Given the description of an element on the screen output the (x, y) to click on. 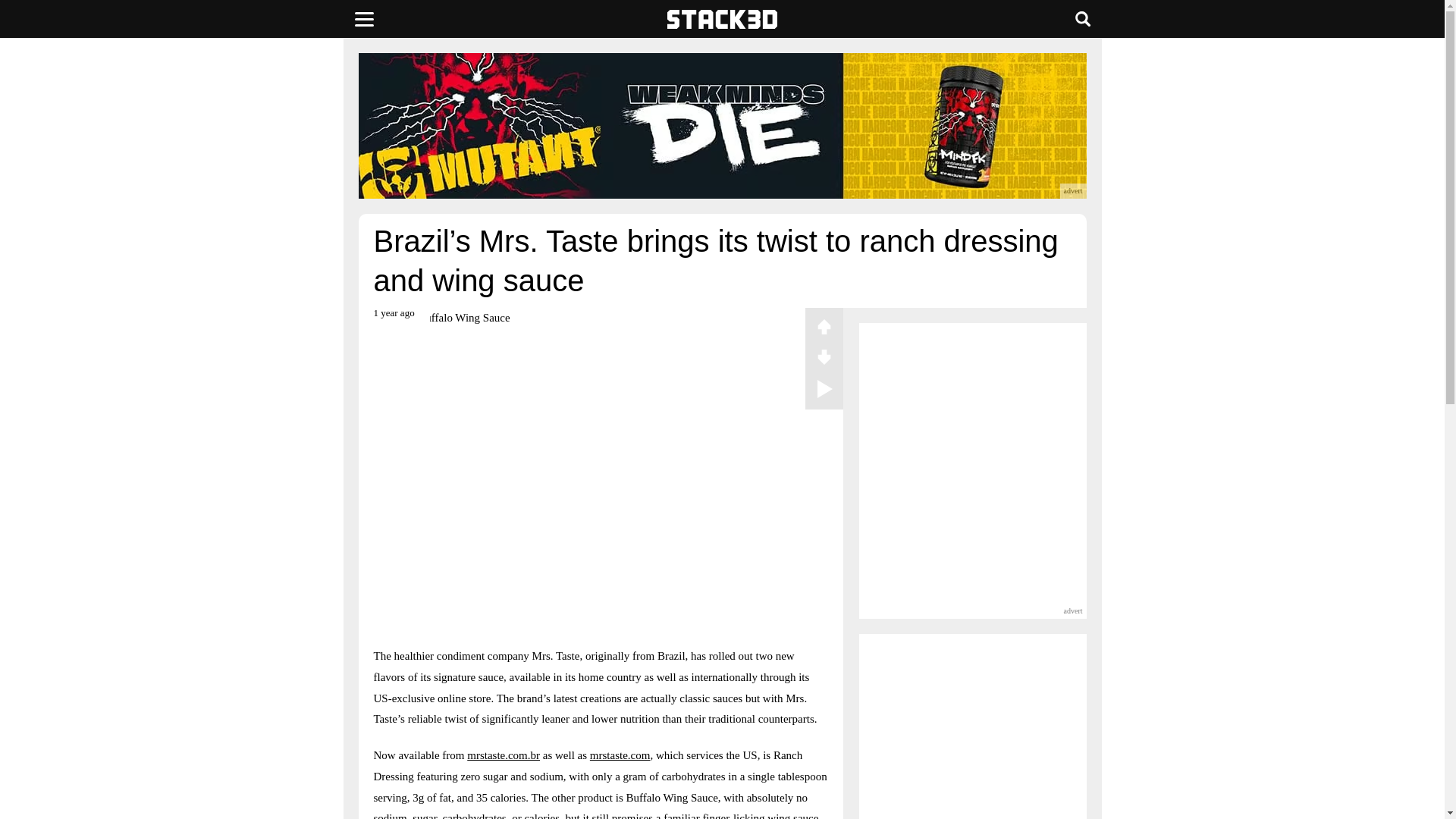
mrstaste.com.br (503, 755)
September 7th 2022 (393, 318)
mrstaste.com (619, 755)
